Given the description of an element on the screen output the (x, y) to click on. 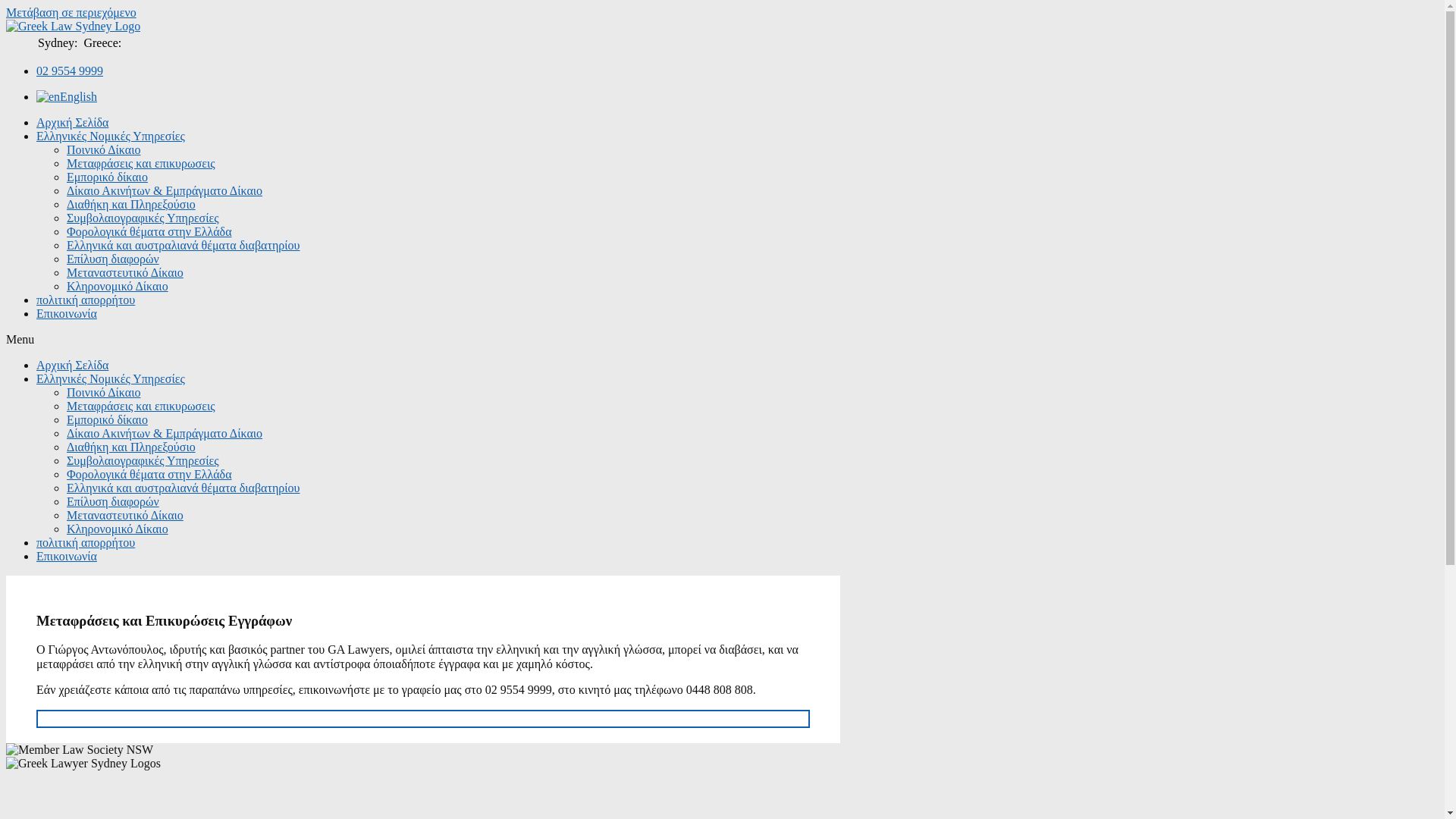
English Element type: text (66, 96)
02 9554 9999 Element type: text (69, 70)
